Given the description of an element on the screen output the (x, y) to click on. 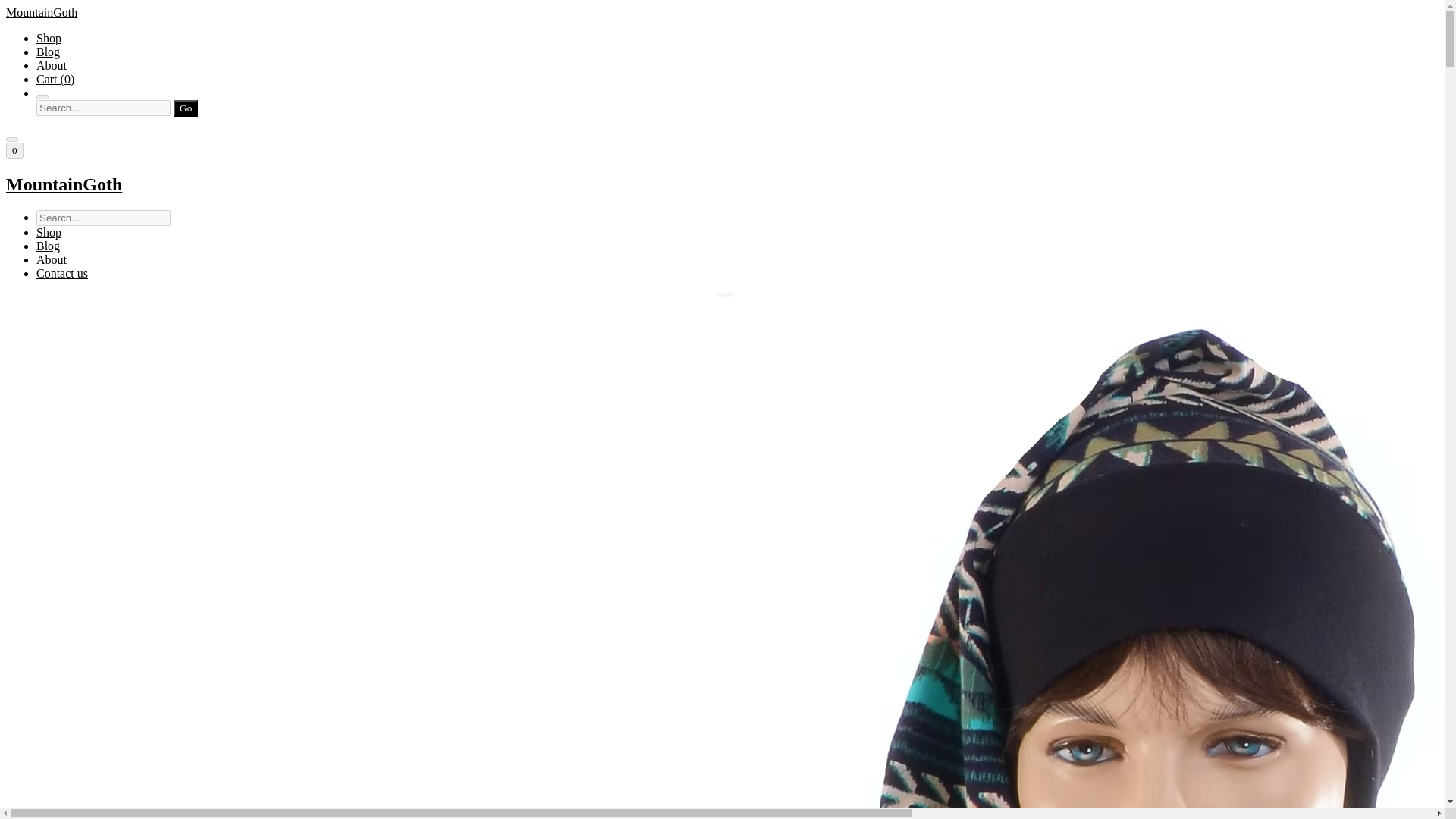
MountainGoth (721, 184)
Contact us (61, 273)
About (51, 65)
Shop (48, 232)
Blog (47, 51)
Go (185, 108)
About (51, 259)
Go (185, 108)
Blog (47, 245)
